Given the description of an element on the screen output the (x, y) to click on. 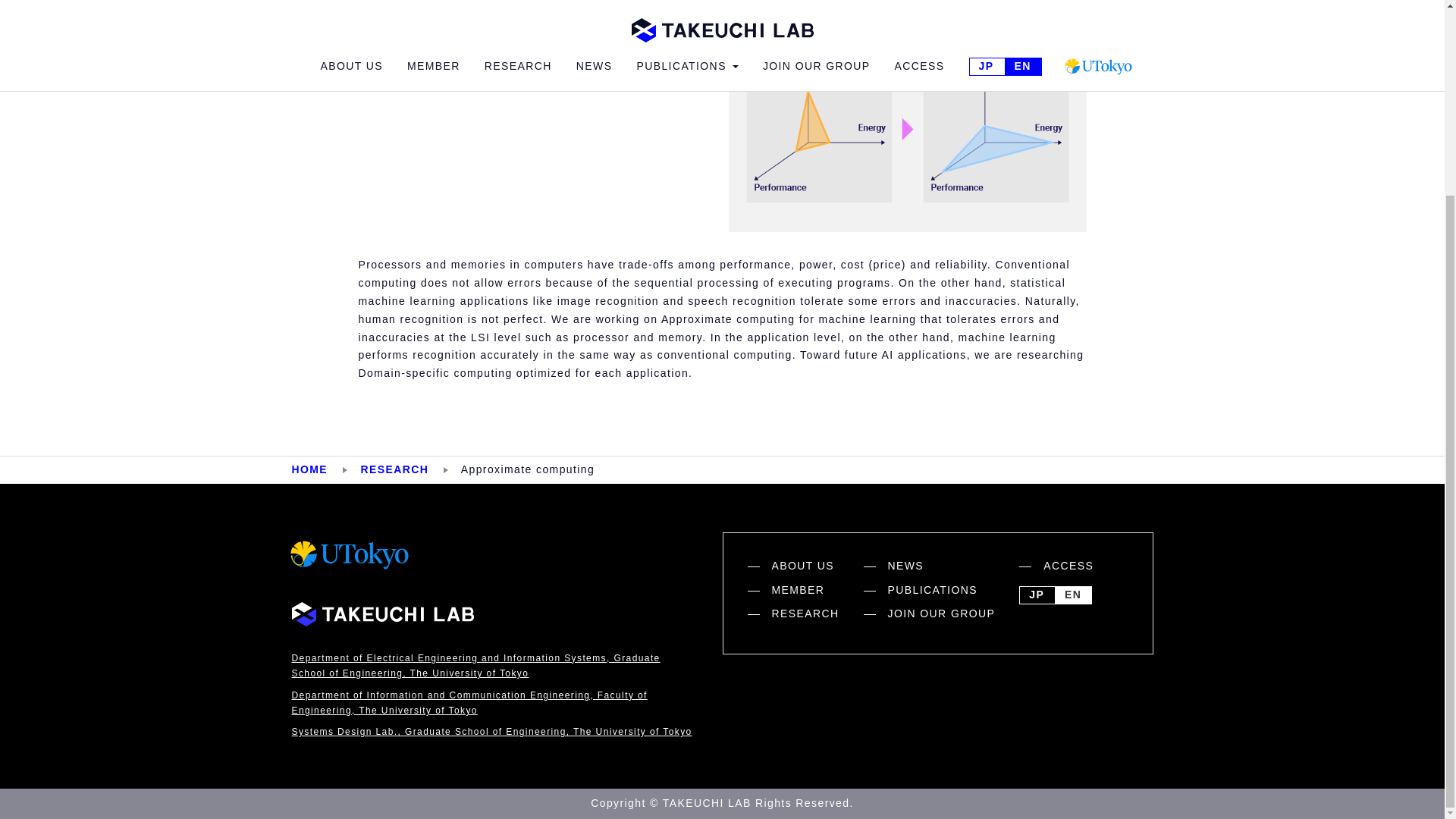
ABOUT US (805, 566)
Japanese (1035, 595)
MEMBER (805, 590)
JOIN OUR GROUP (940, 614)
RESEARCH (805, 614)
ACCESS (1068, 566)
RESEARCH (393, 469)
HOME (309, 469)
English (1072, 595)
